Given the description of an element on the screen output the (x, y) to click on. 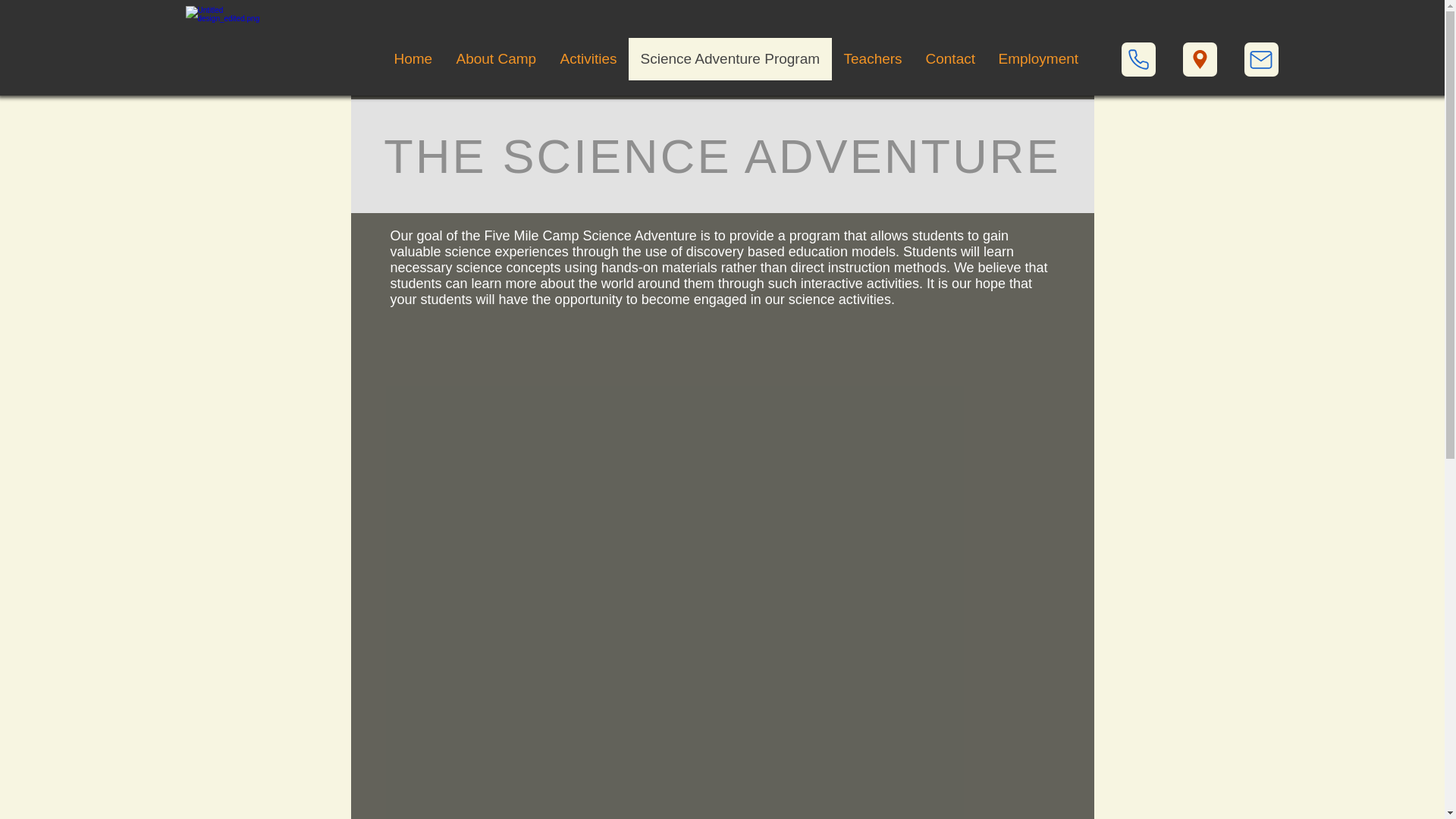
Activities (587, 58)
Employment (1037, 58)
Teachers (871, 58)
Contact (948, 58)
THE SCIENCE ADVENTURE (721, 155)
Untitled design.png (232, 47)
About Camp (496, 58)
Home (412, 58)
Science Adventure Program (729, 58)
